Given the description of an element on the screen output the (x, y) to click on. 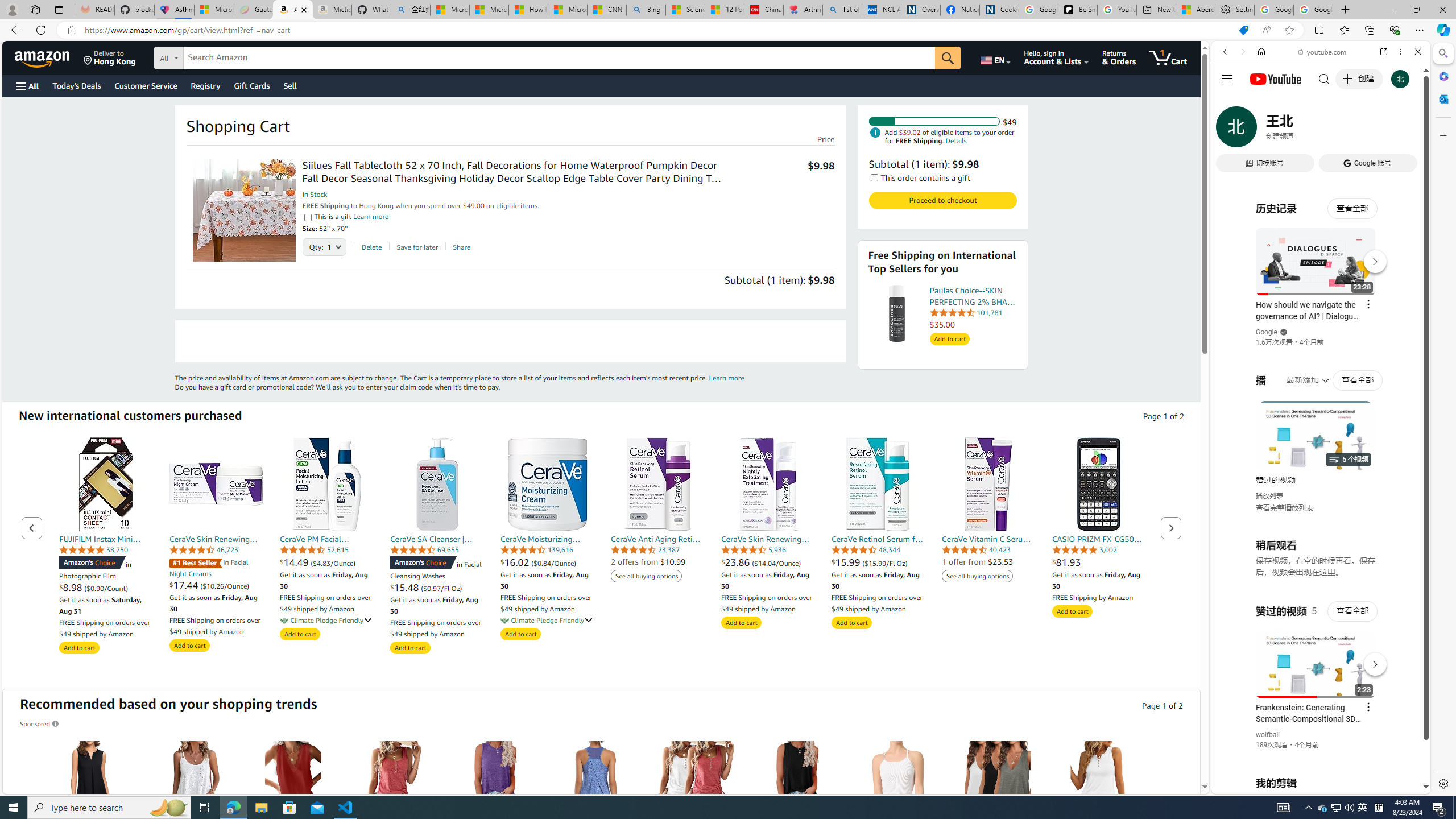
youtube.com (1322, 51)
